Given the description of an element on the screen output the (x, y) to click on. 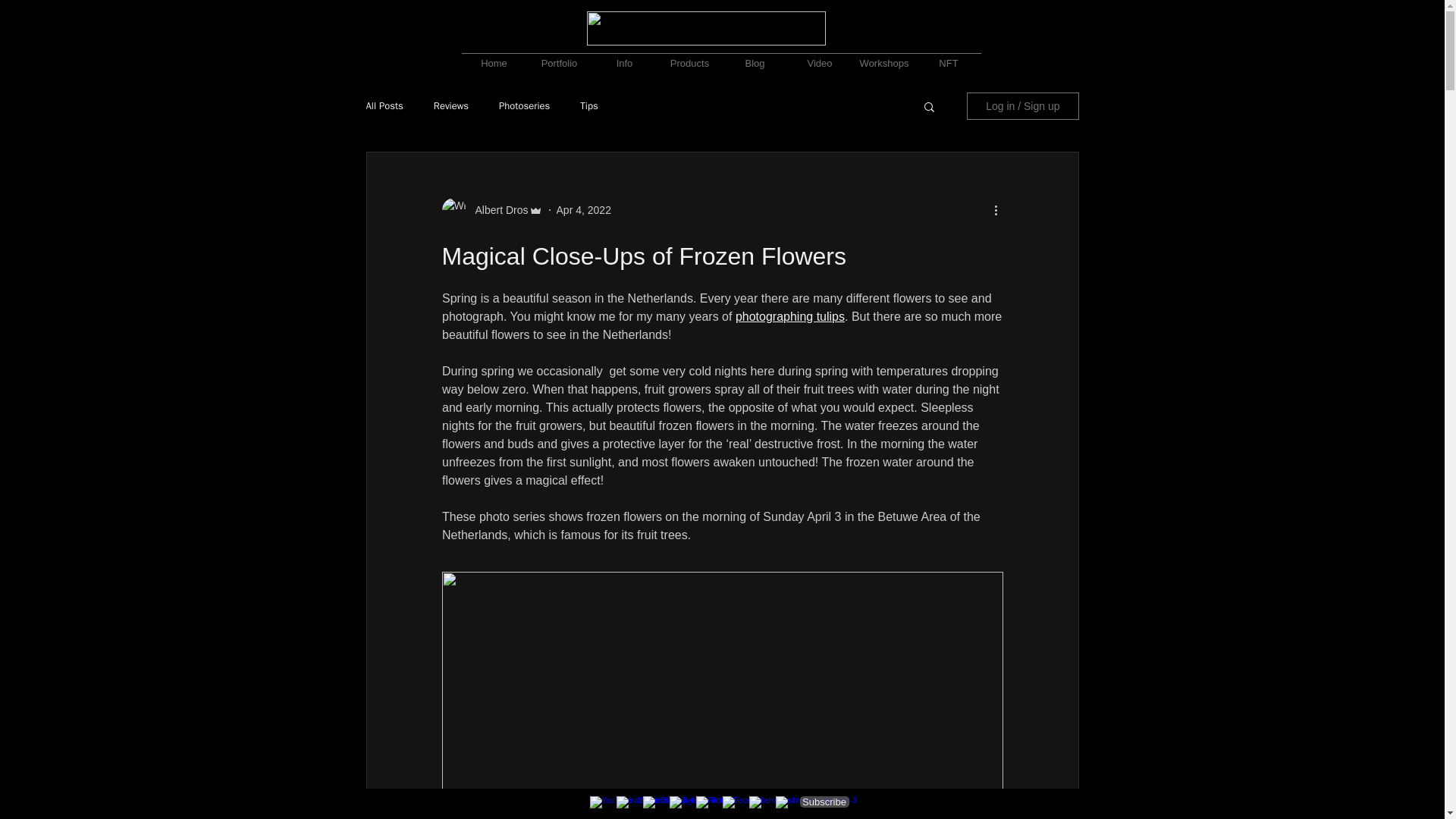
Info (623, 56)
logo big2.png (705, 28)
NFT (947, 56)
Photoseries (524, 106)
photographing tulips (789, 316)
Albert Dros (496, 209)
Reviews (450, 106)
Blog (754, 56)
Albert Dros (491, 209)
Products (689, 56)
Video (819, 56)
All Posts (384, 106)
Home (493, 56)
Apr 4, 2022 (583, 209)
Tips (587, 106)
